Given the description of an element on the screen output the (x, y) to click on. 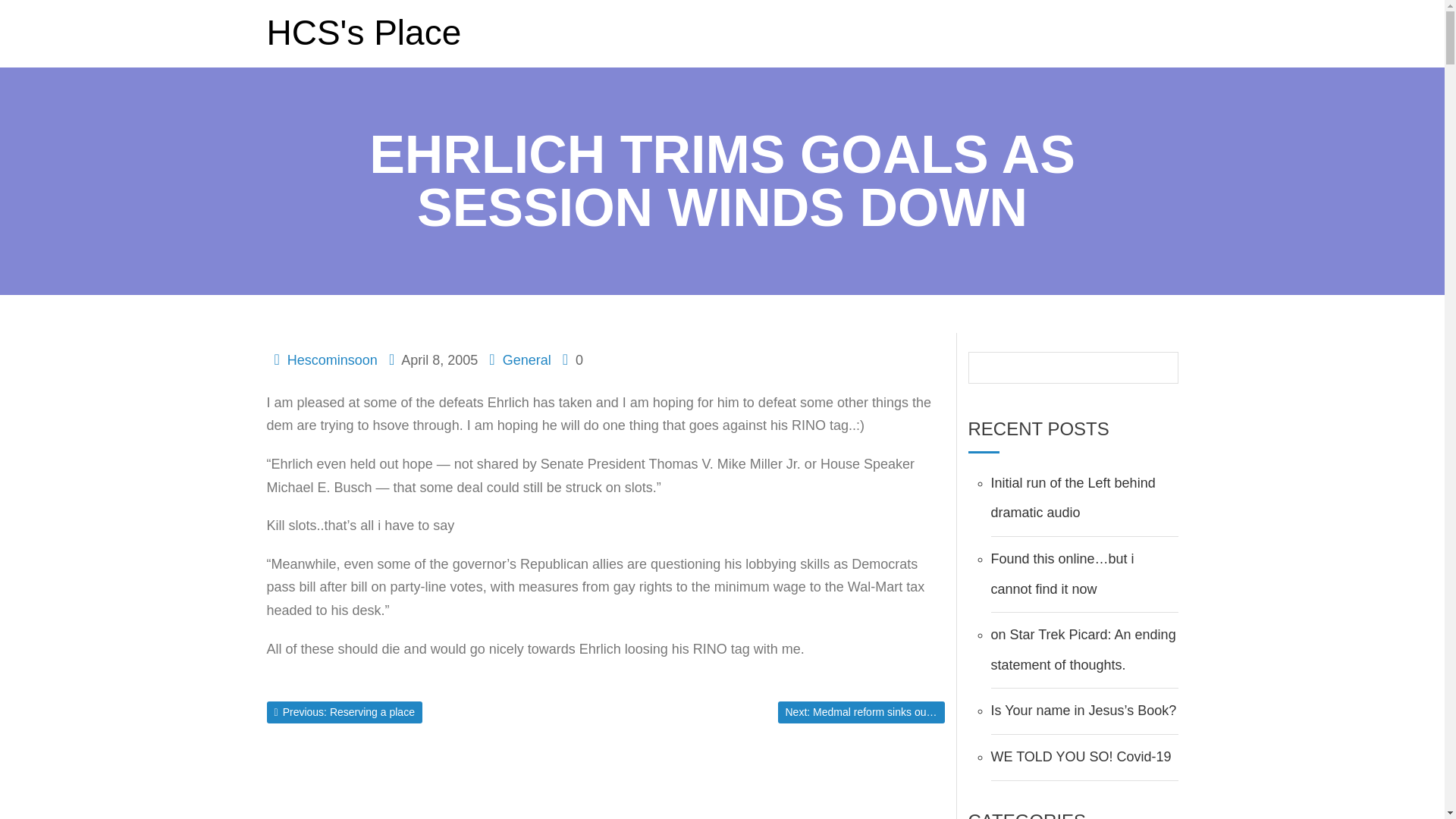
Posts by Hescominsoon (331, 359)
on Star Trek Picard: An ending statement of thoughts. (1082, 649)
HCS's Place (363, 32)
Search (21, 7)
WE TOLD YOU SO! Covid-19 (1080, 756)
Initial run of the Left behind dramatic audio (344, 712)
Hescominsoon (1072, 497)
General (331, 359)
